Given the description of an element on the screen output the (x, y) to click on. 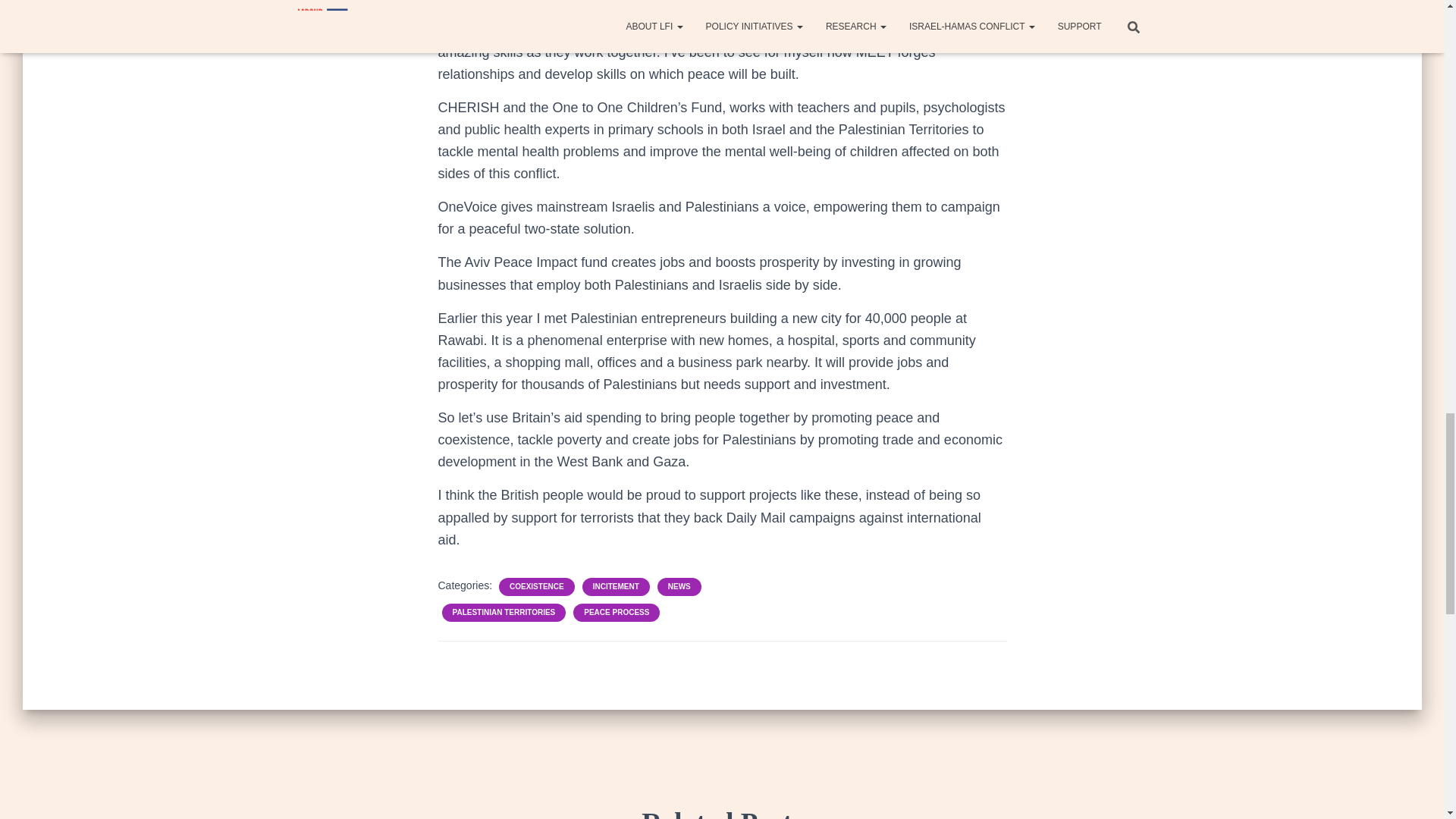
NEWS (679, 586)
PEACE PROCESS (616, 612)
INCITEMENT (615, 586)
COEXISTENCE (537, 586)
PALESTINIAN TERRITORIES (502, 612)
